Given the description of an element on the screen output the (x, y) to click on. 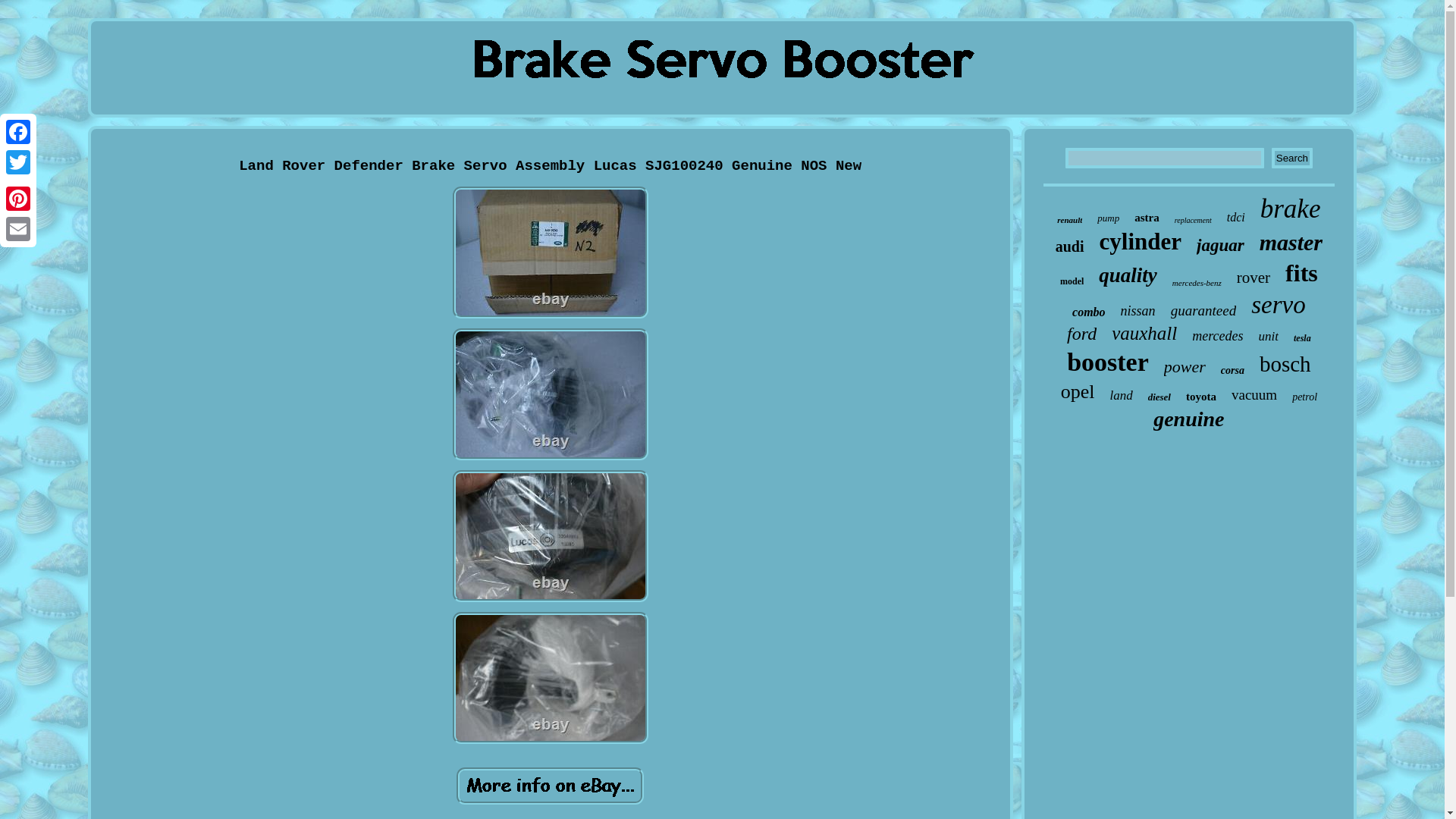
Pinterest (17, 198)
quality (1128, 275)
Facebook (17, 132)
renault (1069, 219)
Email (17, 228)
mercedes-benz (1196, 282)
tdci (1235, 217)
cylinder (1140, 241)
replacement (1192, 220)
Search (1292, 158)
